Given the description of an element on the screen output the (x, y) to click on. 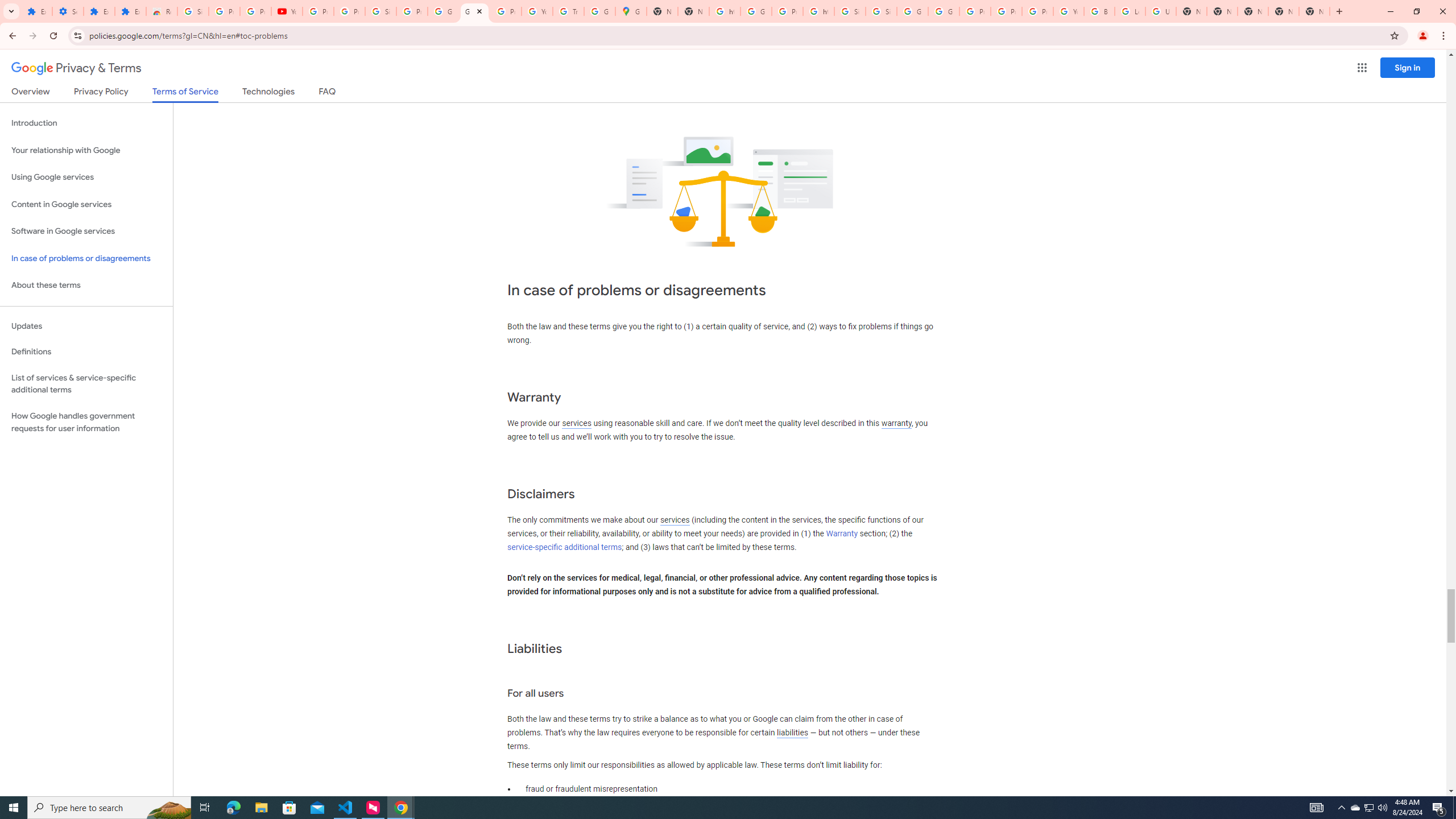
https://scholar.google.com/ (818, 11)
